Given the description of an element on the screen output the (x, y) to click on. 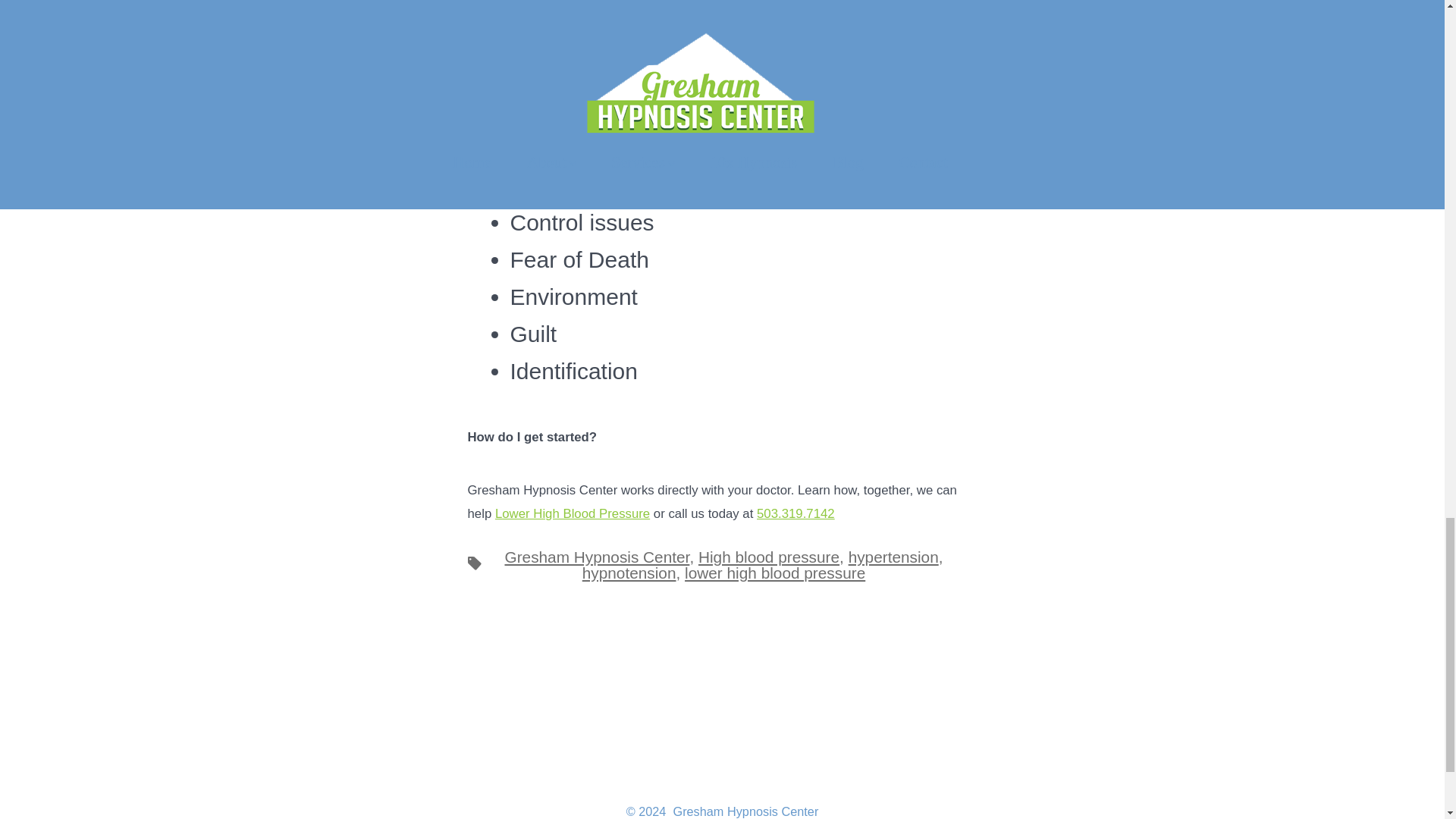
503.319.7142 (795, 513)
hypertension (893, 556)
lower high blood pressure (774, 572)
High blood pressure (769, 556)
hypnotension (629, 572)
Lower High Blood Pressure (572, 513)
Gresham Hypnosis Center (595, 556)
